Given the description of an element on the screen output the (x, y) to click on. 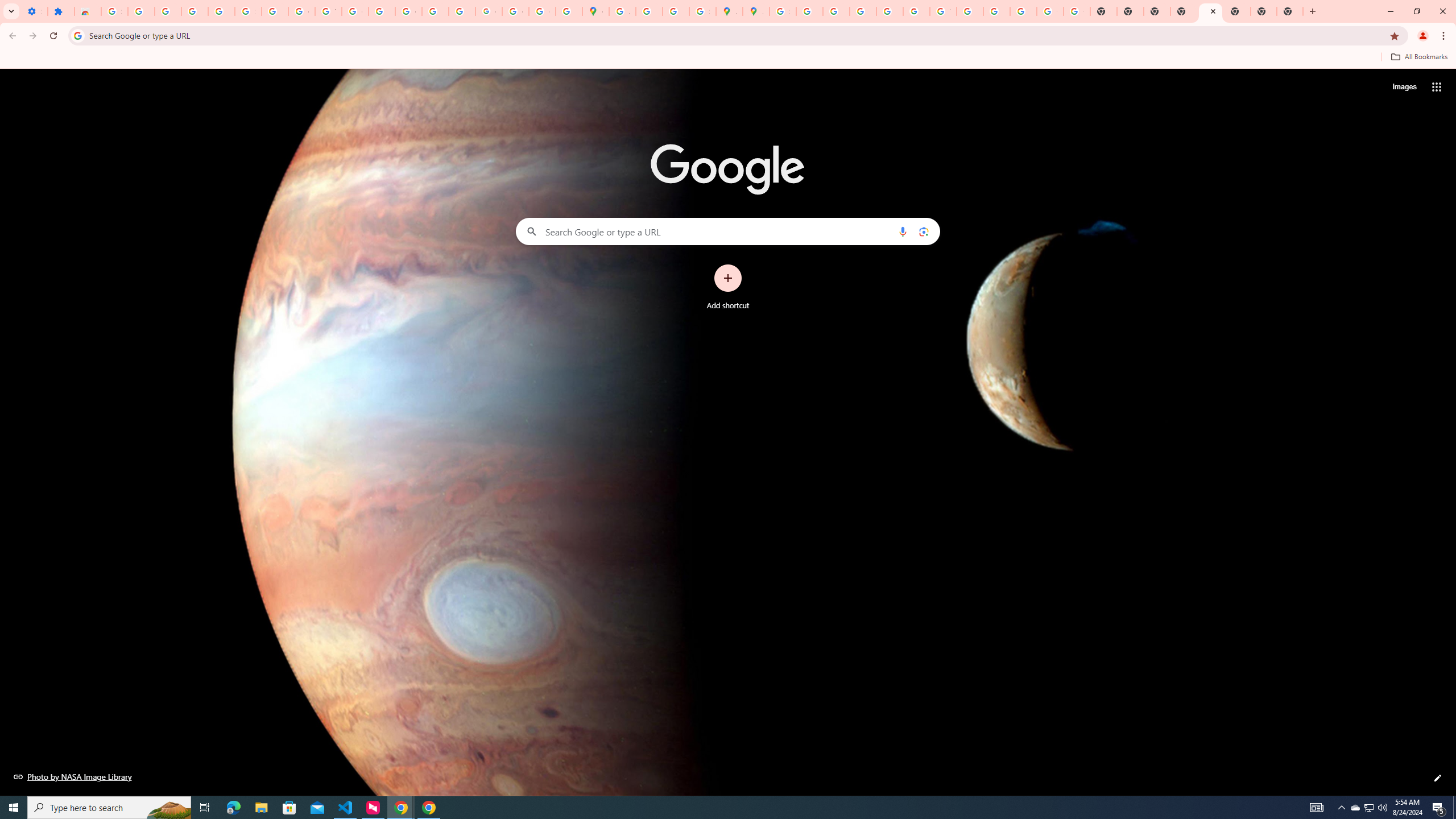
Delete photos & videos - Computer - Google Photos Help (167, 11)
Settings - On startup (34, 11)
